Given the description of an element on the screen output the (x, y) to click on. 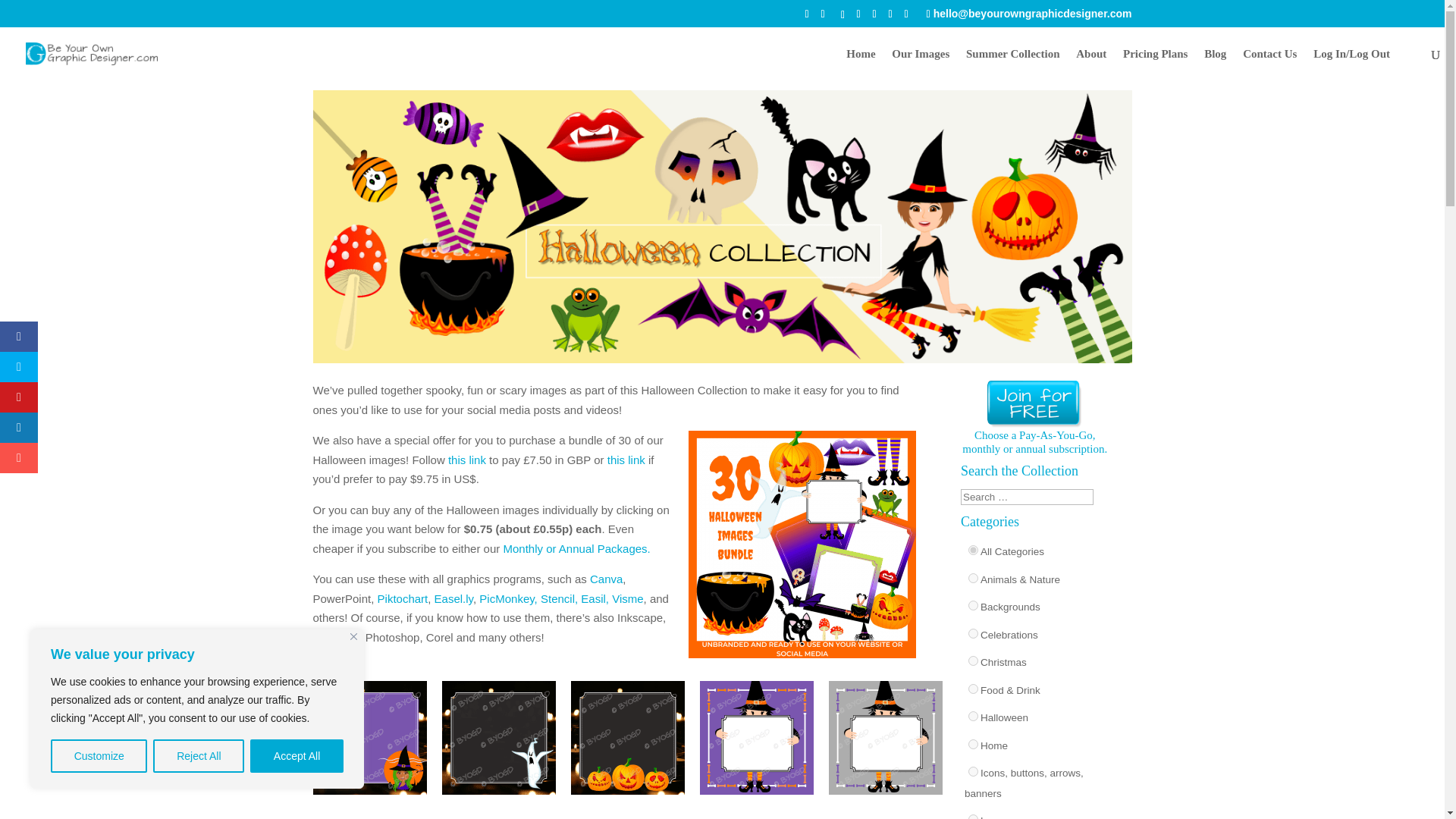
halloween (973, 716)
love (973, 816)
Reject All (198, 756)
animals-nature (973, 578)
food-drink (973, 688)
christmas (973, 660)
icons-buttons-arrows-banners (973, 771)
Our Images (920, 64)
backgrounds-2 (973, 605)
About (1090, 64)
Contact Us (1270, 64)
Pricing Plans (1155, 64)
Home (860, 64)
home (973, 744)
celebrations (973, 633)
